Given the description of an element on the screen output the (x, y) to click on. 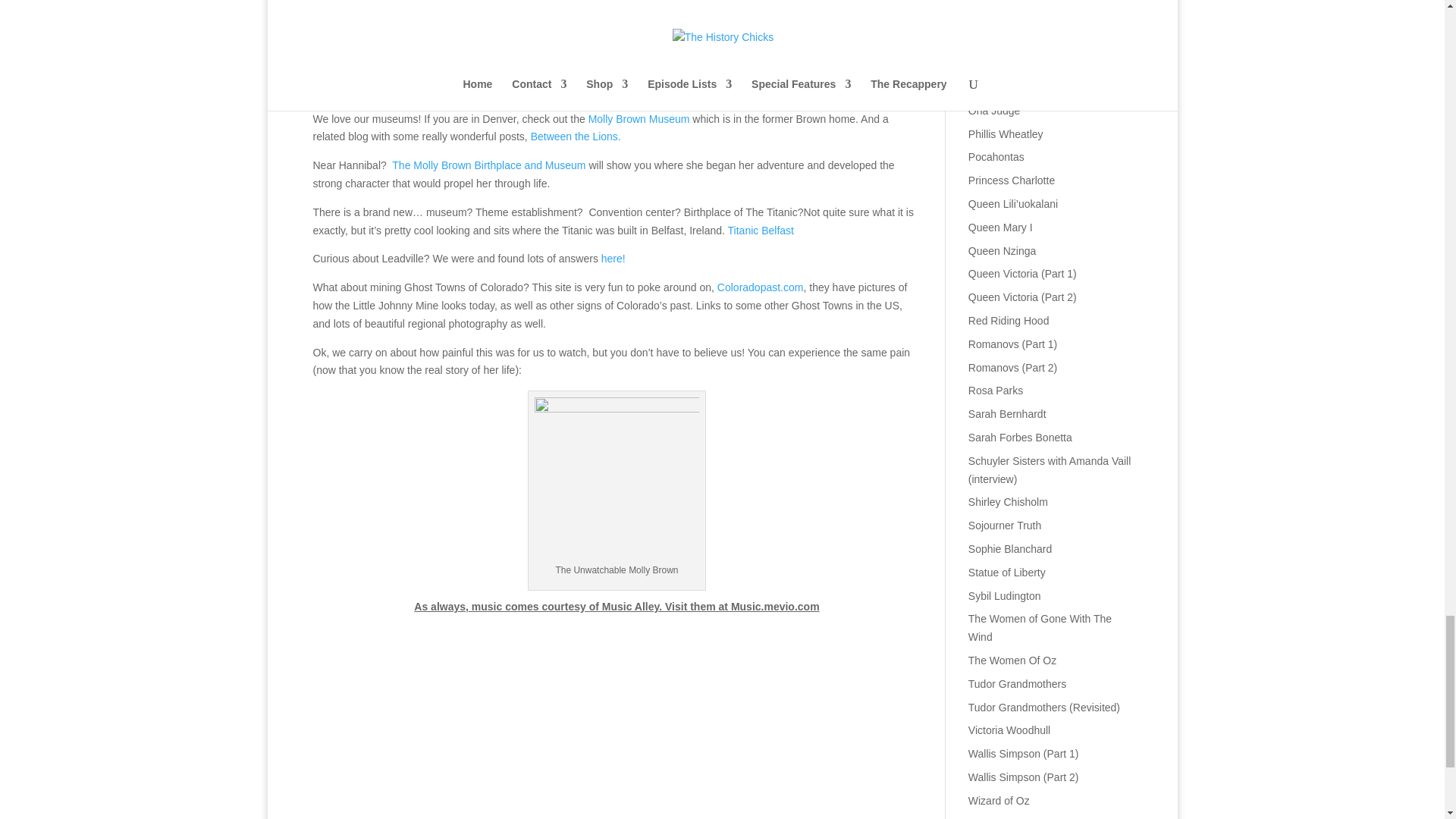
MB Unsink movie (616, 479)
MB sharing her fortunes (616, 18)
